Given the description of an element on the screen output the (x, y) to click on. 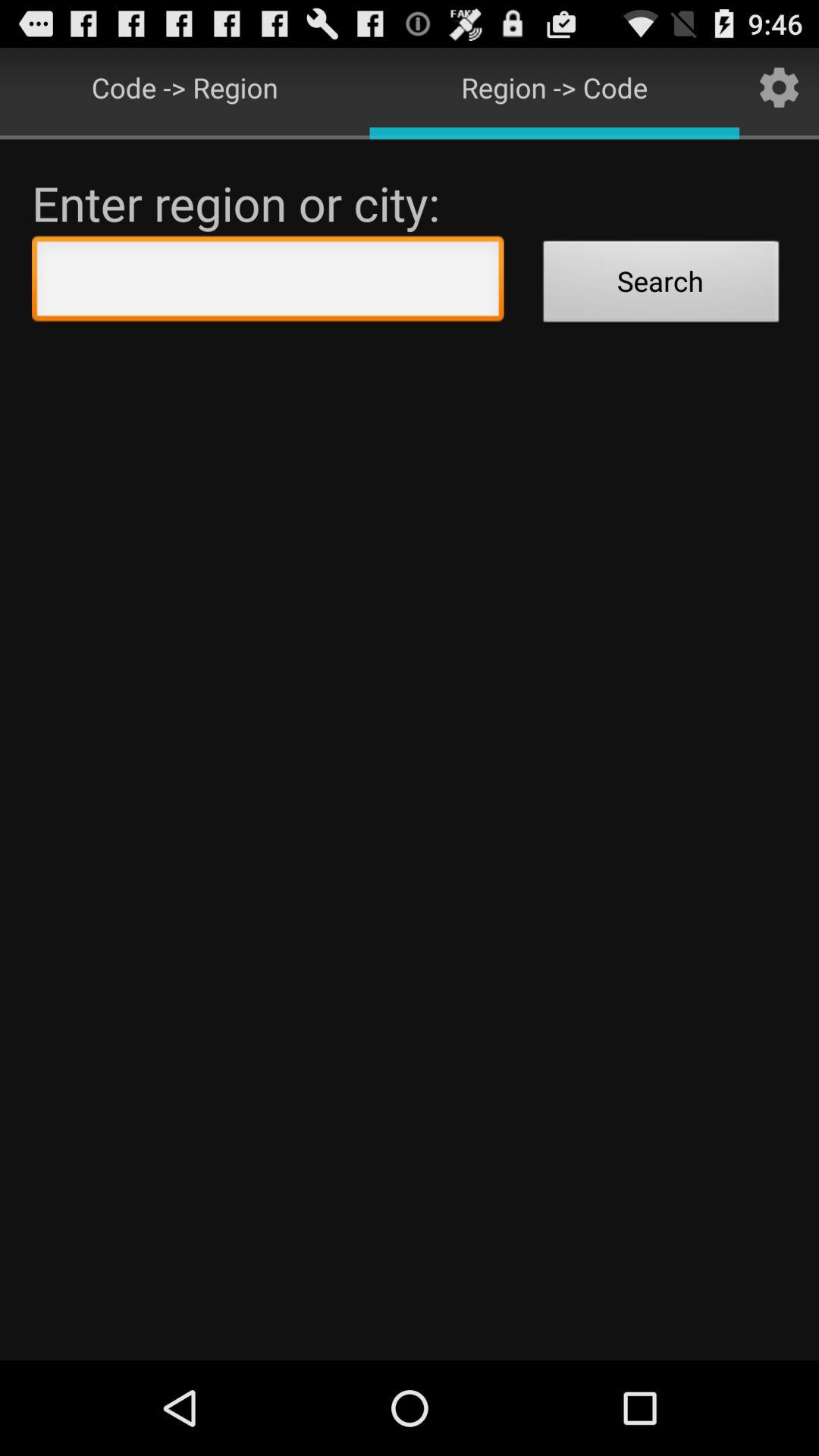
turn off the item next to region -> code button (779, 87)
